Given the description of an element on the screen output the (x, y) to click on. 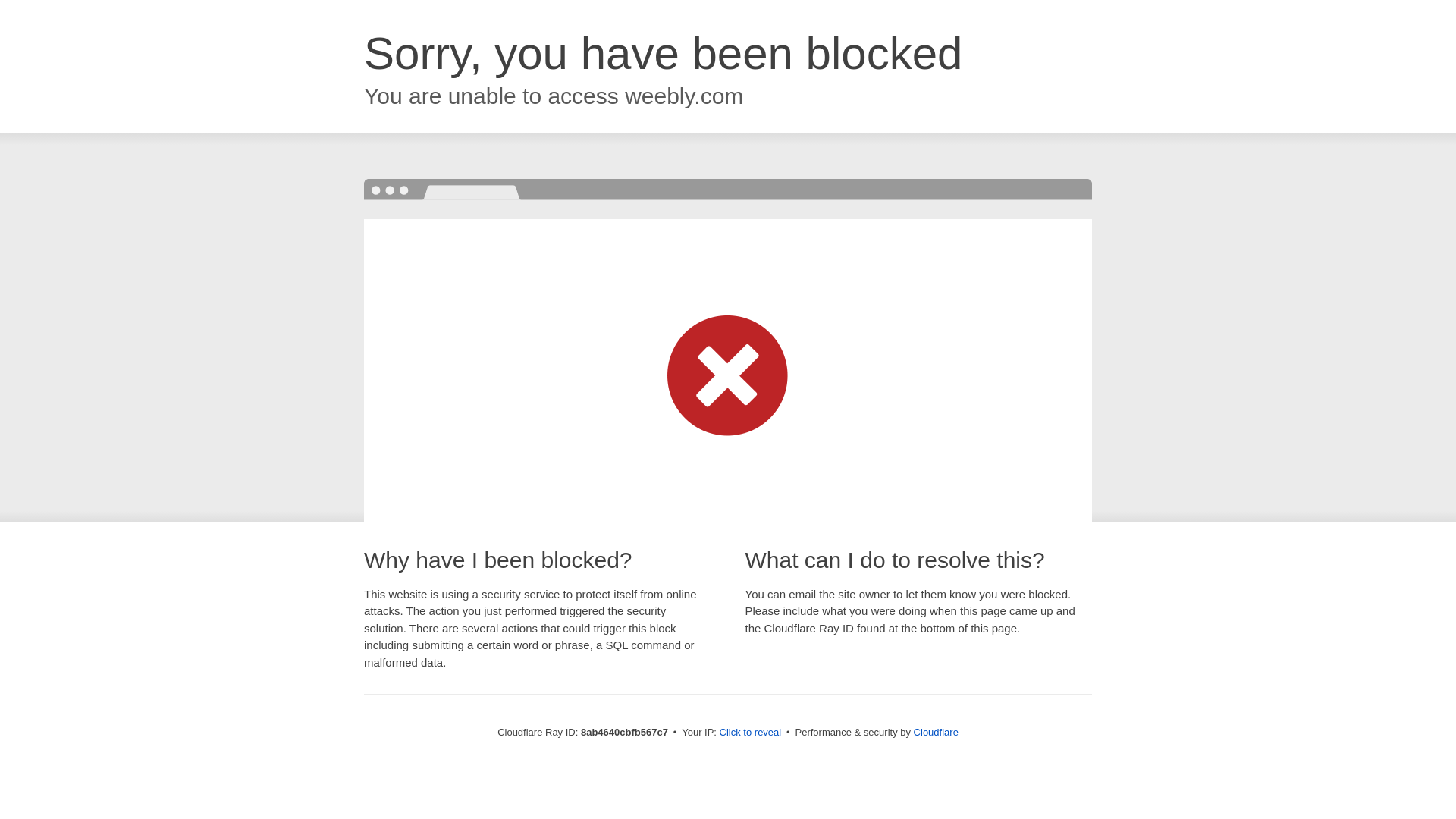
Click to reveal (750, 732)
Cloudflare (936, 731)
